Given the description of an element on the screen output the (x, y) to click on. 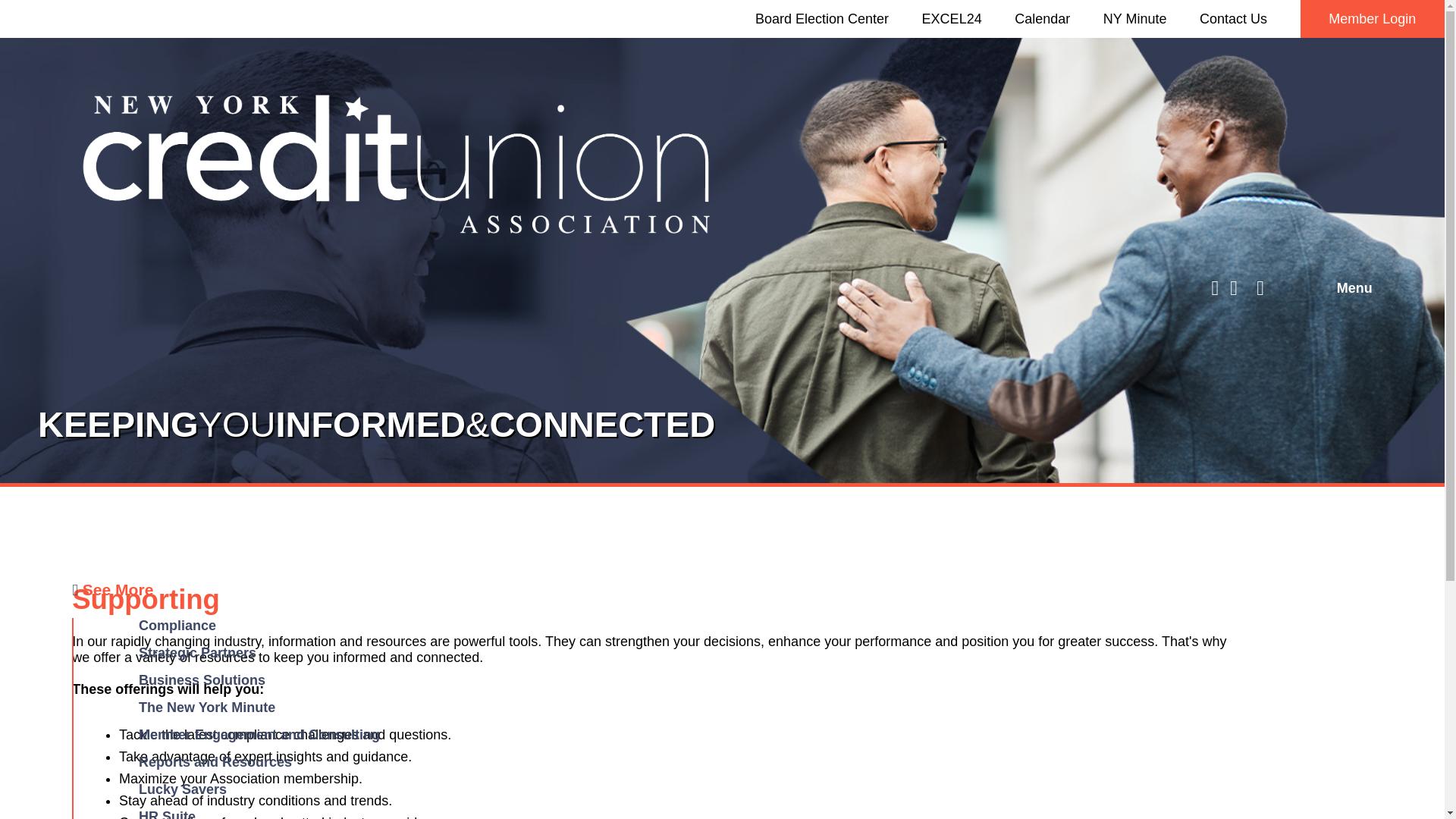
Member Login (1371, 18)
Calendar (1042, 17)
Board Election Center (821, 17)
NY Minute (1135, 17)
Contact Us (1232, 17)
Menu (1354, 288)
EXCEL24 (951, 17)
